Given the description of an element on the screen output the (x, y) to click on. 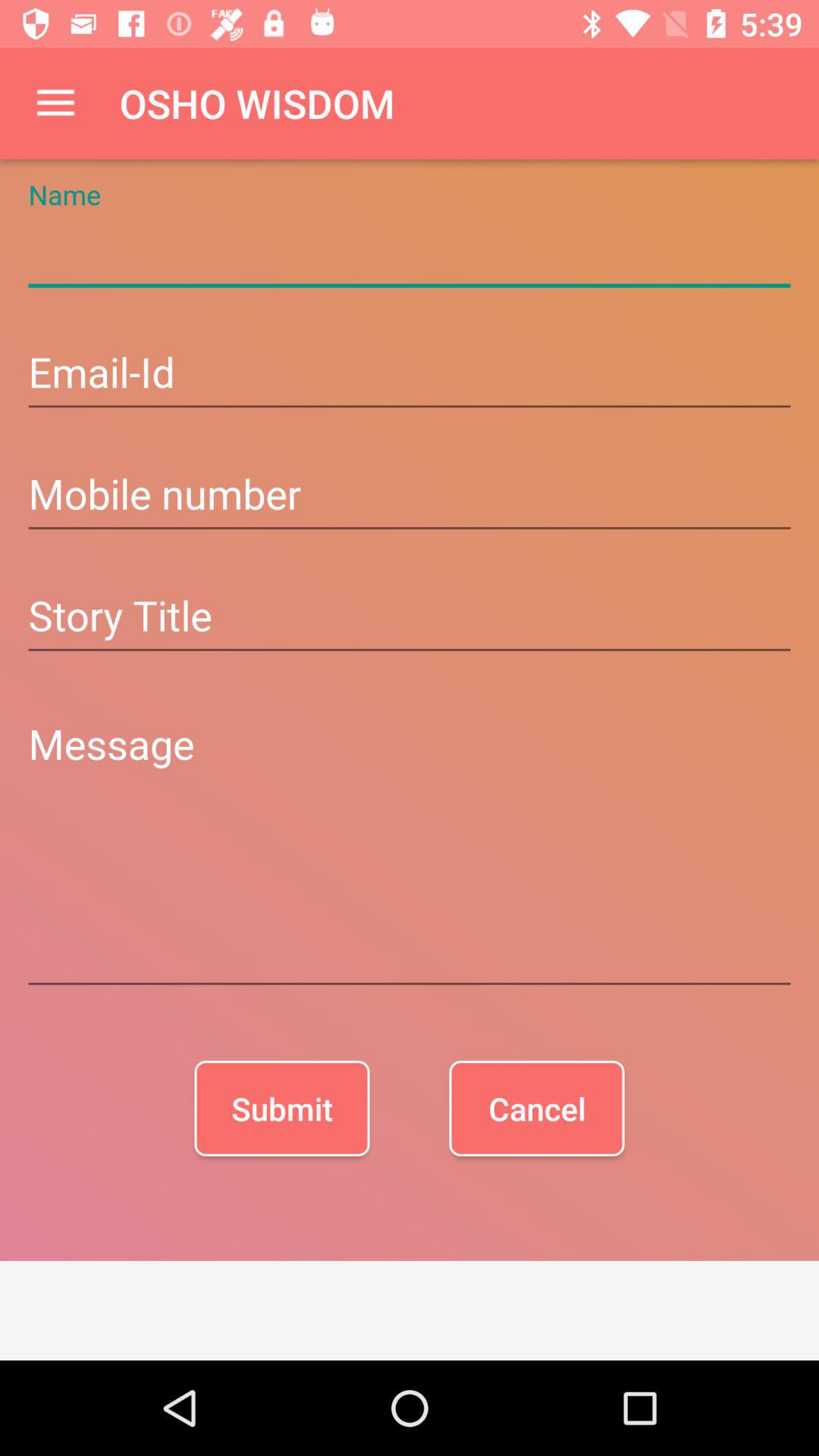
typing (409, 252)
